Given the description of an element on the screen output the (x, y) to click on. 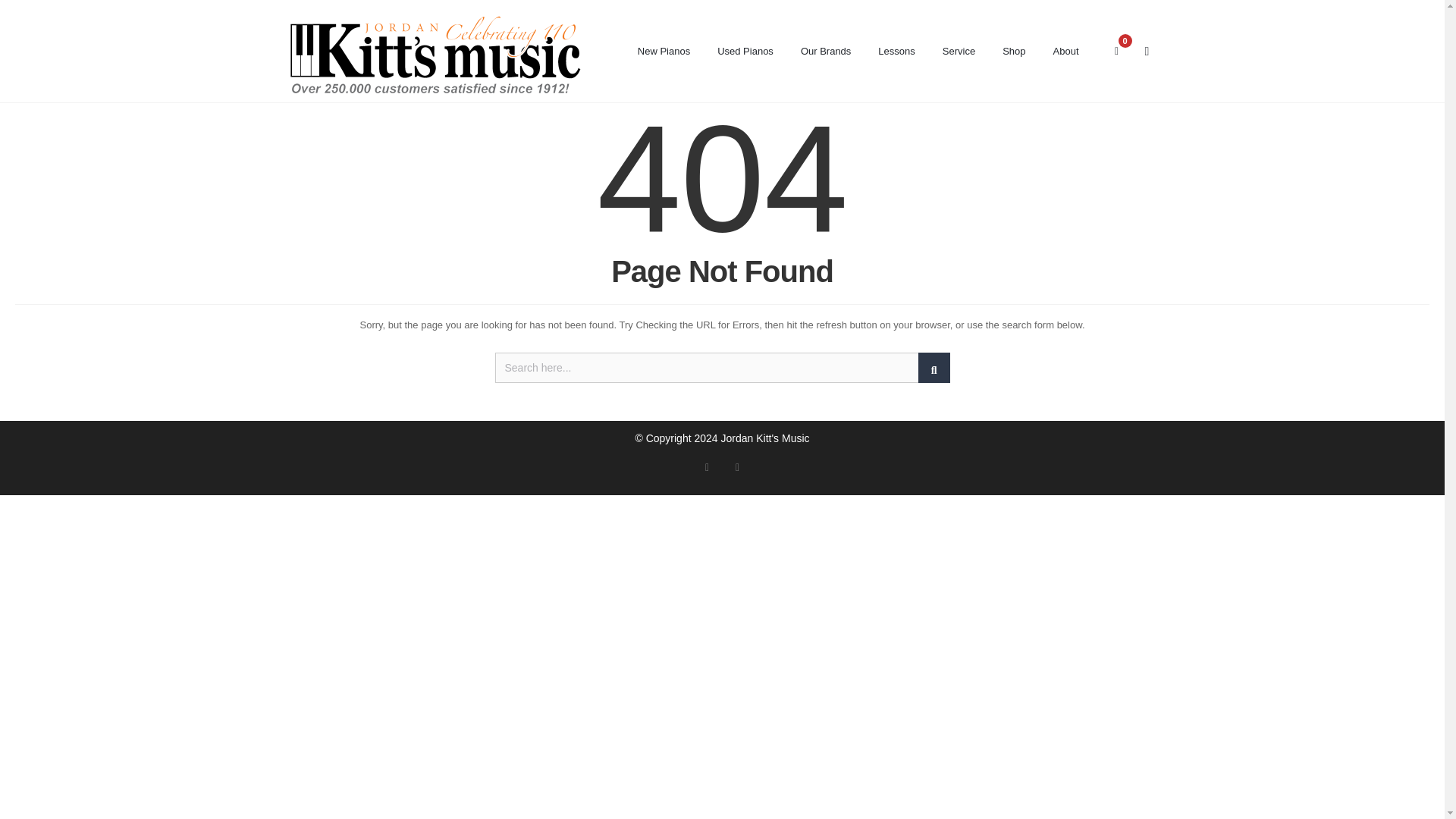
 Follow on Facebook (706, 467)
Search here... (722, 367)
New Pianos (663, 51)
Search here... (722, 367)
 Follow on YouTube (737, 467)
Jordan Kitt's Music (433, 58)
